Given the description of an element on the screen output the (x, y) to click on. 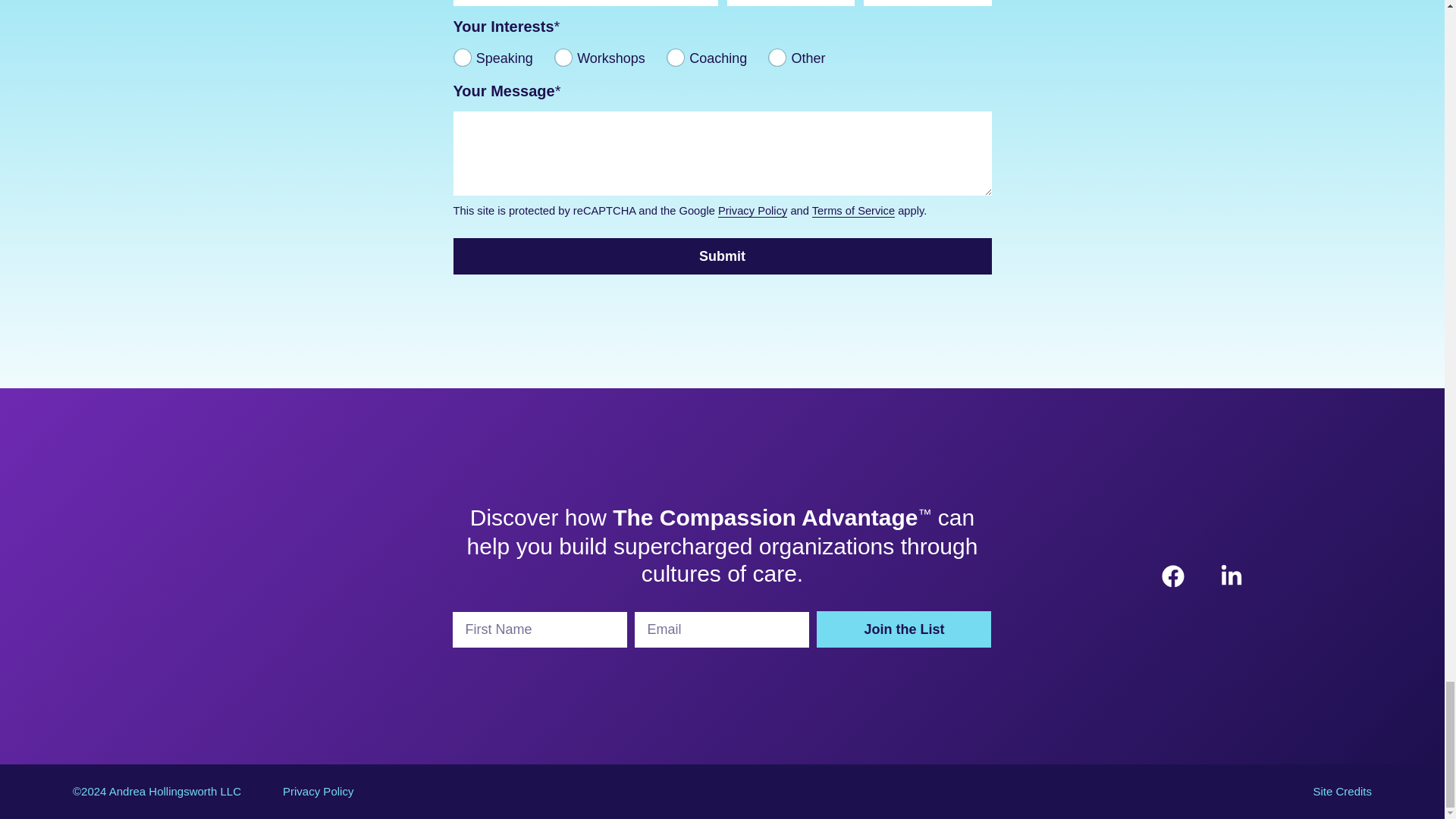
Privacy Policy (752, 210)
Terms of Service (853, 210)
Privacy Policy (317, 790)
Join the List (903, 628)
Submit (721, 256)
